Given the description of an element on the screen output the (x, y) to click on. 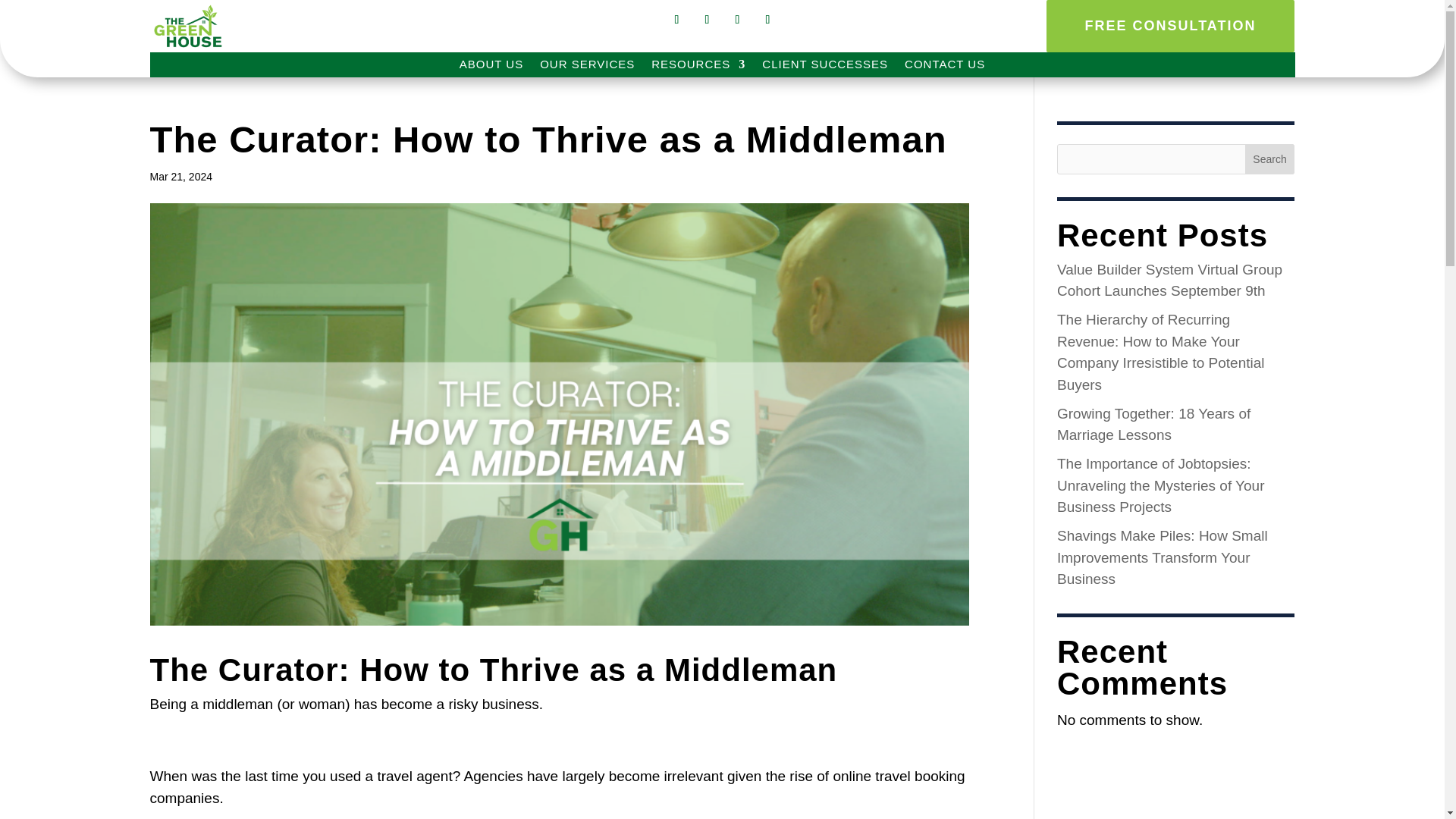
Follow on Youtube (766, 19)
CONTACT US (944, 67)
FREE CONSULTATION (1170, 26)
OUR SERVICES (587, 67)
Green House Logo (187, 27)
Follow on LinkedIn (737, 19)
Follow on Facebook (675, 19)
Growing Together: 18 Years of Marriage Lessons (1153, 423)
RESOURCES (697, 67)
